Given the description of an element on the screen output the (x, y) to click on. 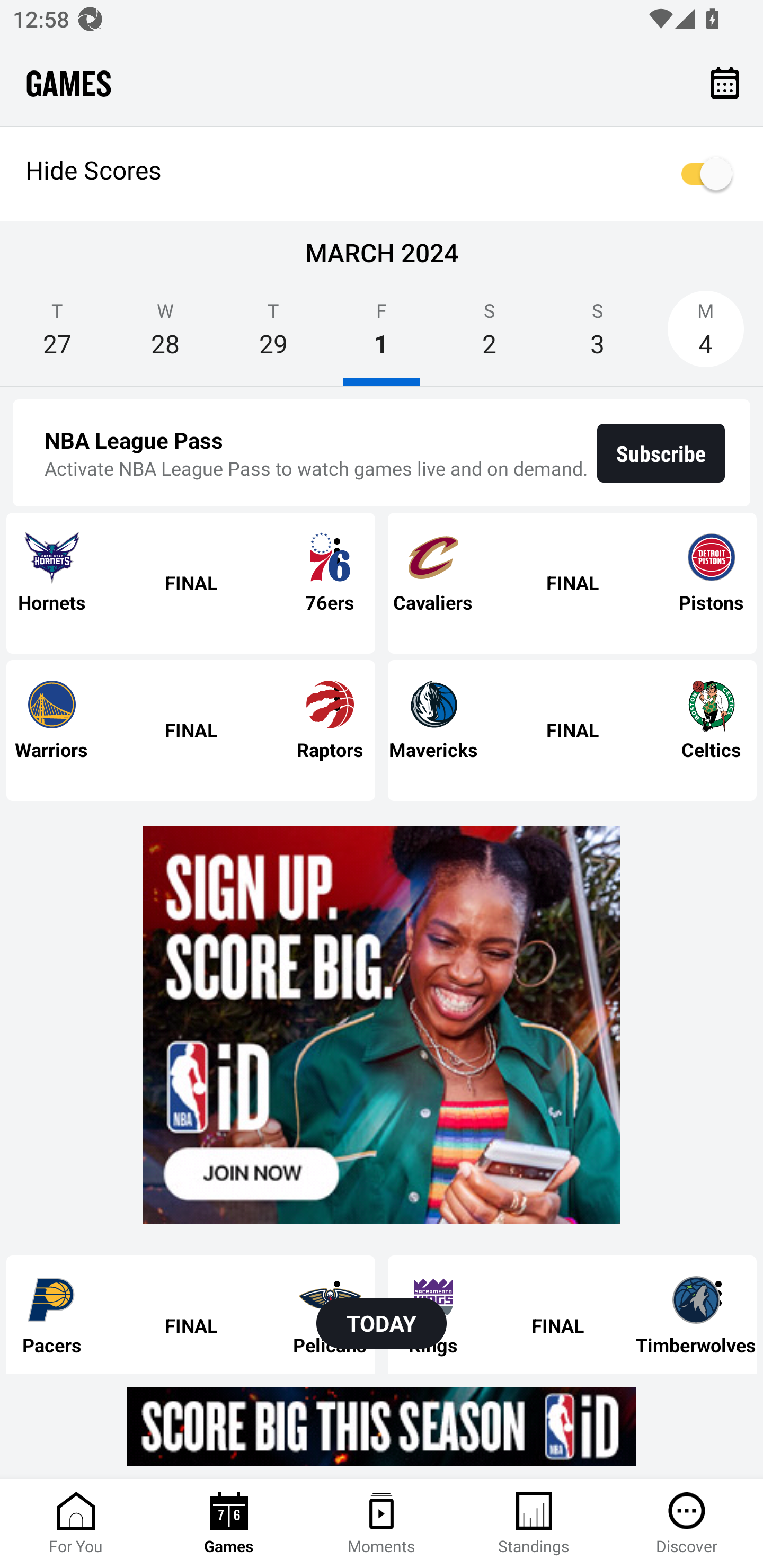
Calendar (724, 81)
Hide Scores (381, 174)
T 27 (57, 334)
W 28 (165, 334)
T 29 (273, 334)
F 1 (381, 334)
S 2 (489, 334)
S 3 (597, 334)
M 4 (705, 334)
Subscribe (660, 452)
Post Game - Hornets at 76ers Hornets FINAL 76ers (190, 582)
TODAY (381, 1323)
For You (76, 1523)
Moments (381, 1523)
Standings (533, 1523)
Discover (686, 1523)
